Given the description of an element on the screen output the (x, y) to click on. 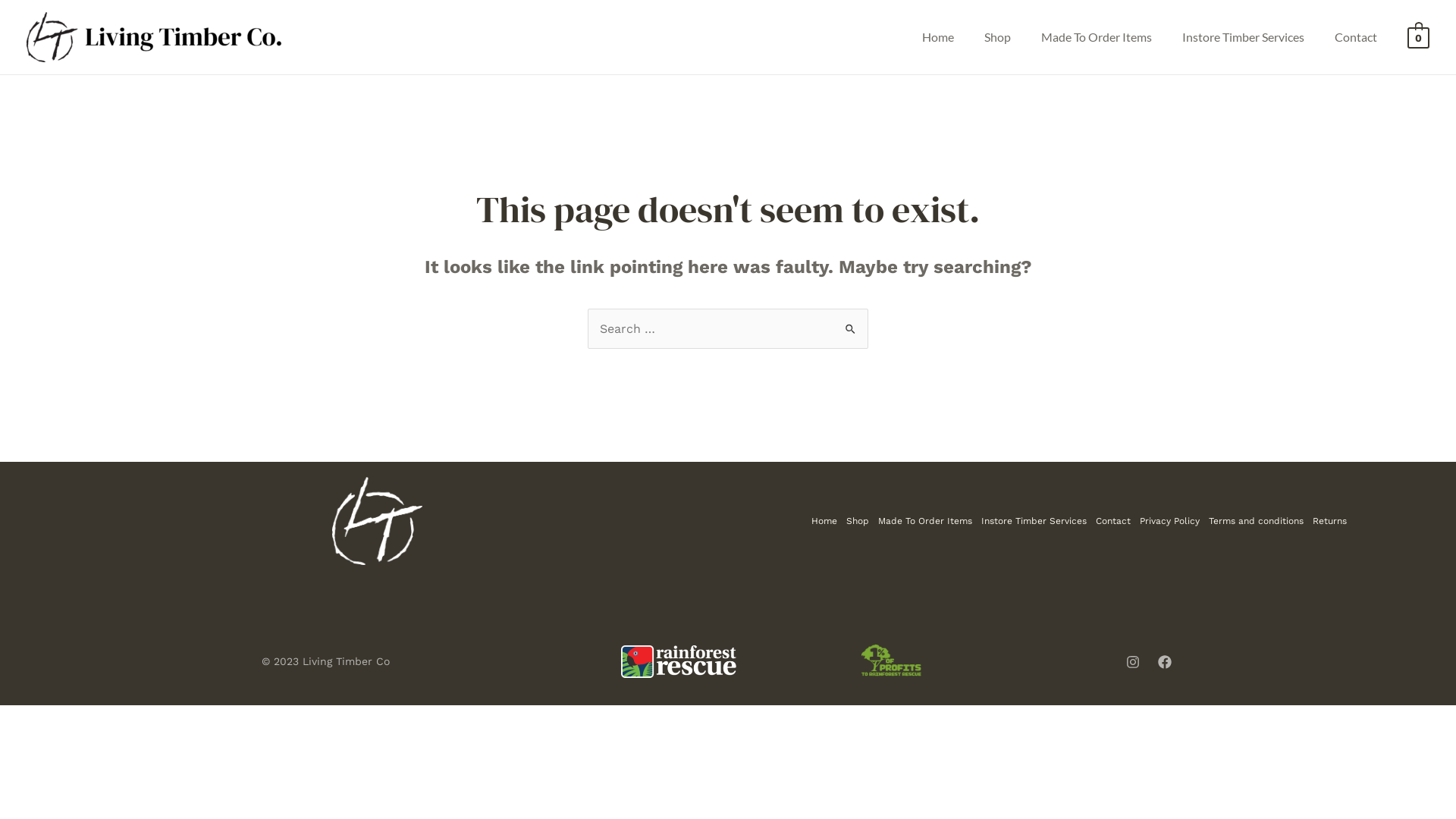
Terms and conditions Element type: text (1256, 520)
Instore Timber Services Element type: text (1243, 36)
Contact Element type: text (1112, 520)
Shop Element type: text (997, 36)
Home Element type: text (826, 520)
Shop Element type: text (857, 520)
Privacy Policy Element type: text (1168, 520)
Instore Timber Services Element type: text (1033, 520)
Search Element type: text (851, 323)
Made To Order Items Element type: text (1096, 36)
Made To Order Items Element type: text (924, 520)
Returns Element type: text (1326, 520)
Contact Element type: text (1355, 36)
Home Element type: text (937, 36)
0 Element type: text (1418, 36)
